Given the description of an element on the screen output the (x, y) to click on. 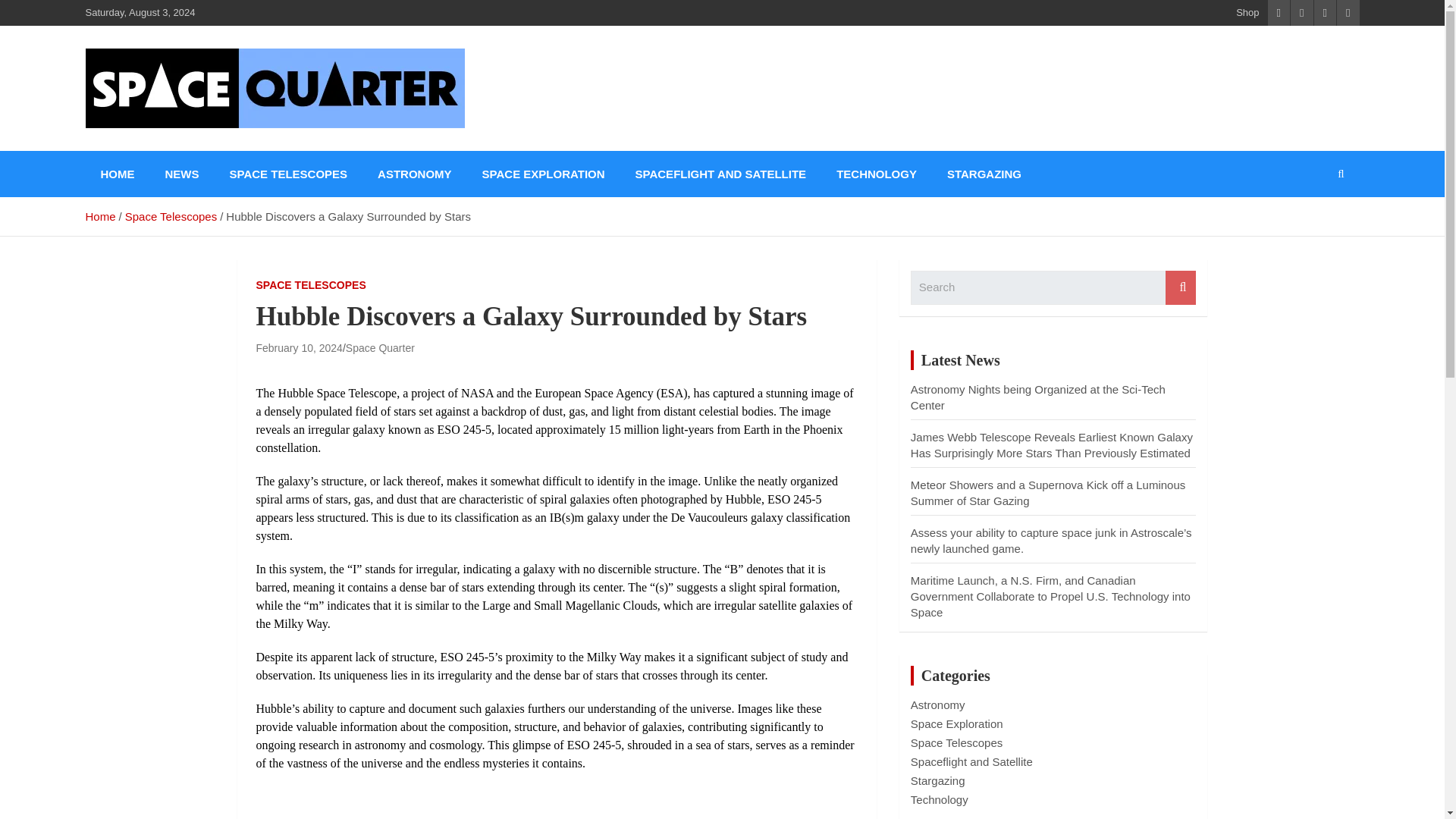
Hubble Discovers a Galaxy Surrounded by Stars (299, 347)
Space Telescopes (957, 742)
Space Exploration (957, 723)
STARGAZING (983, 173)
SPACE TELESCOPES (311, 285)
SPACEFLIGHT AND SATELLITE (721, 173)
February 10, 2024 (299, 347)
Spaceflight and Satellite (971, 761)
Astronomy Nights being Organized at the Sci-Tech Center (1038, 397)
Home (99, 215)
SPACE EXPLORATION (543, 173)
Astronomy (938, 704)
HOME (116, 173)
